Given the description of an element on the screen output the (x, y) to click on. 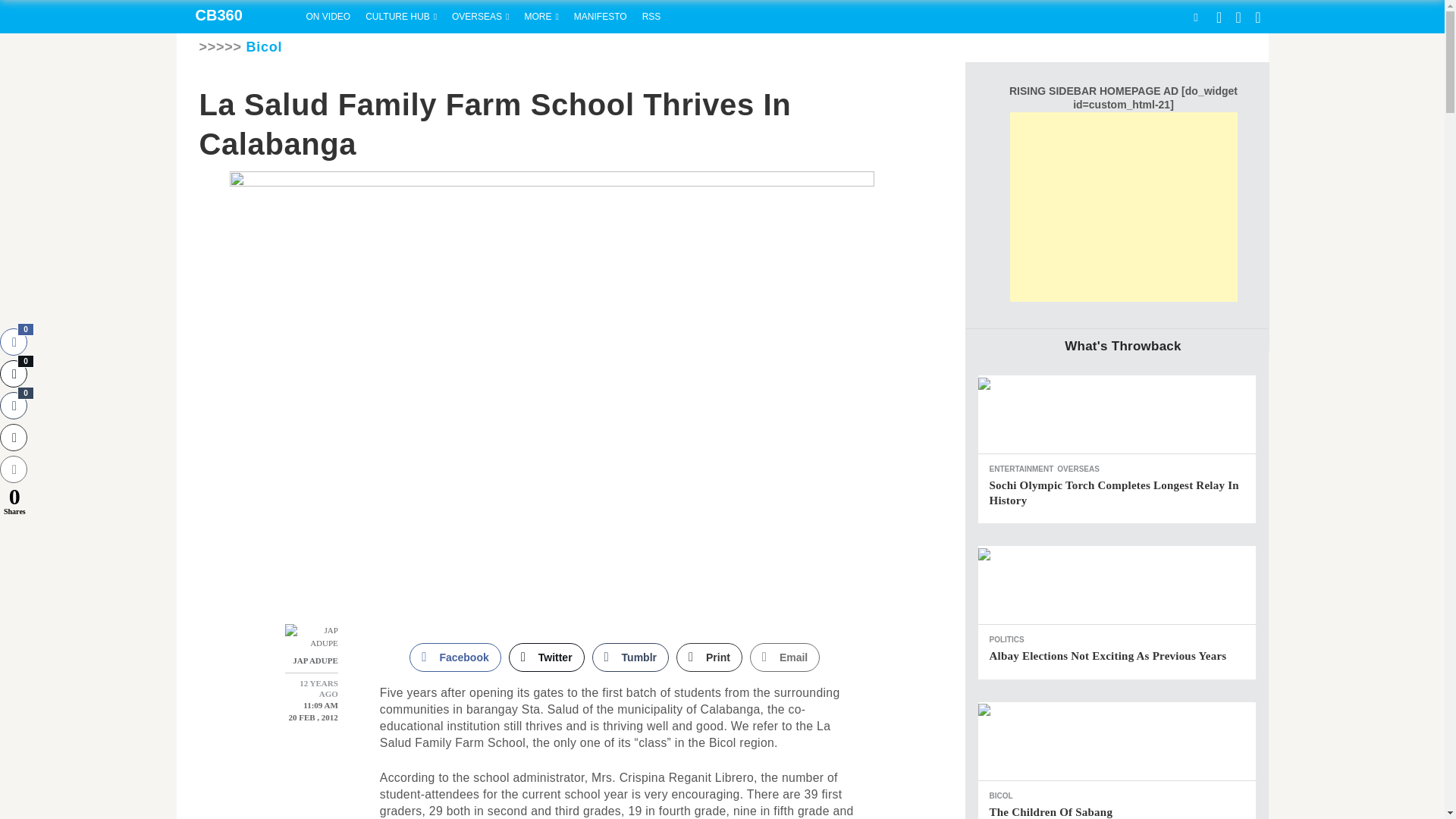
CB360 (237, 16)
OVERSEAS (480, 16)
CULTURE HUB (401, 16)
ON VIDEO (328, 16)
About Us (600, 16)
RSS Feed-Subscribe (651, 16)
MORE (541, 16)
world (480, 16)
